Given the description of an element on the screen output the (x, y) to click on. 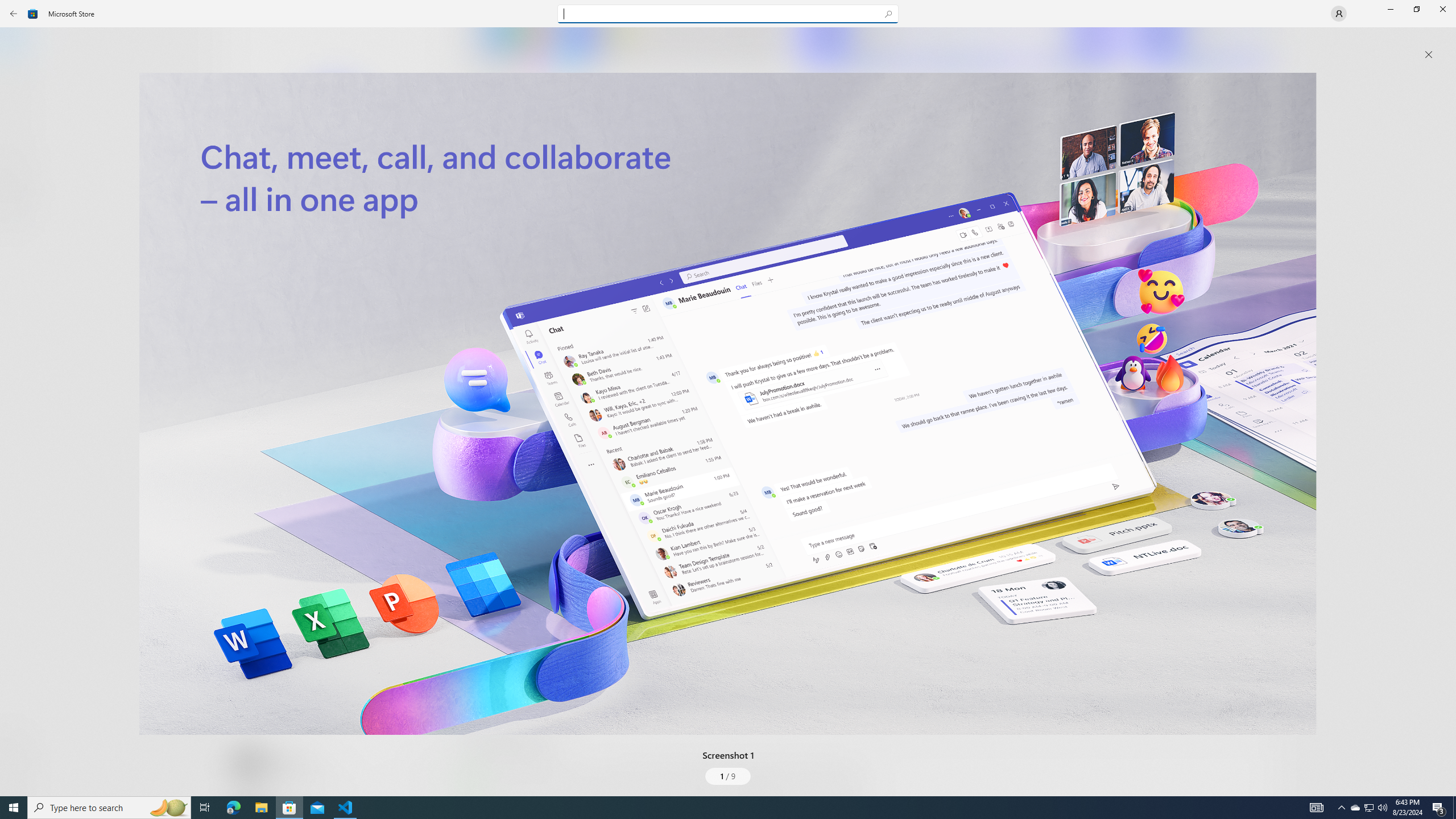
Back (13, 13)
Install (334, 244)
Screenshot 2 (959, 46)
Share (424, 769)
2.6 stars. Click to skip to ratings and reviews (307, 309)
close popup window (1428, 54)
AutomationID: NavigationControl (728, 398)
Show all ratings and reviews (477, 527)
Search (727, 13)
Age rating: EVERYONE. Click for more information. (287, 762)
